Given the description of an element on the screen output the (x, y) to click on. 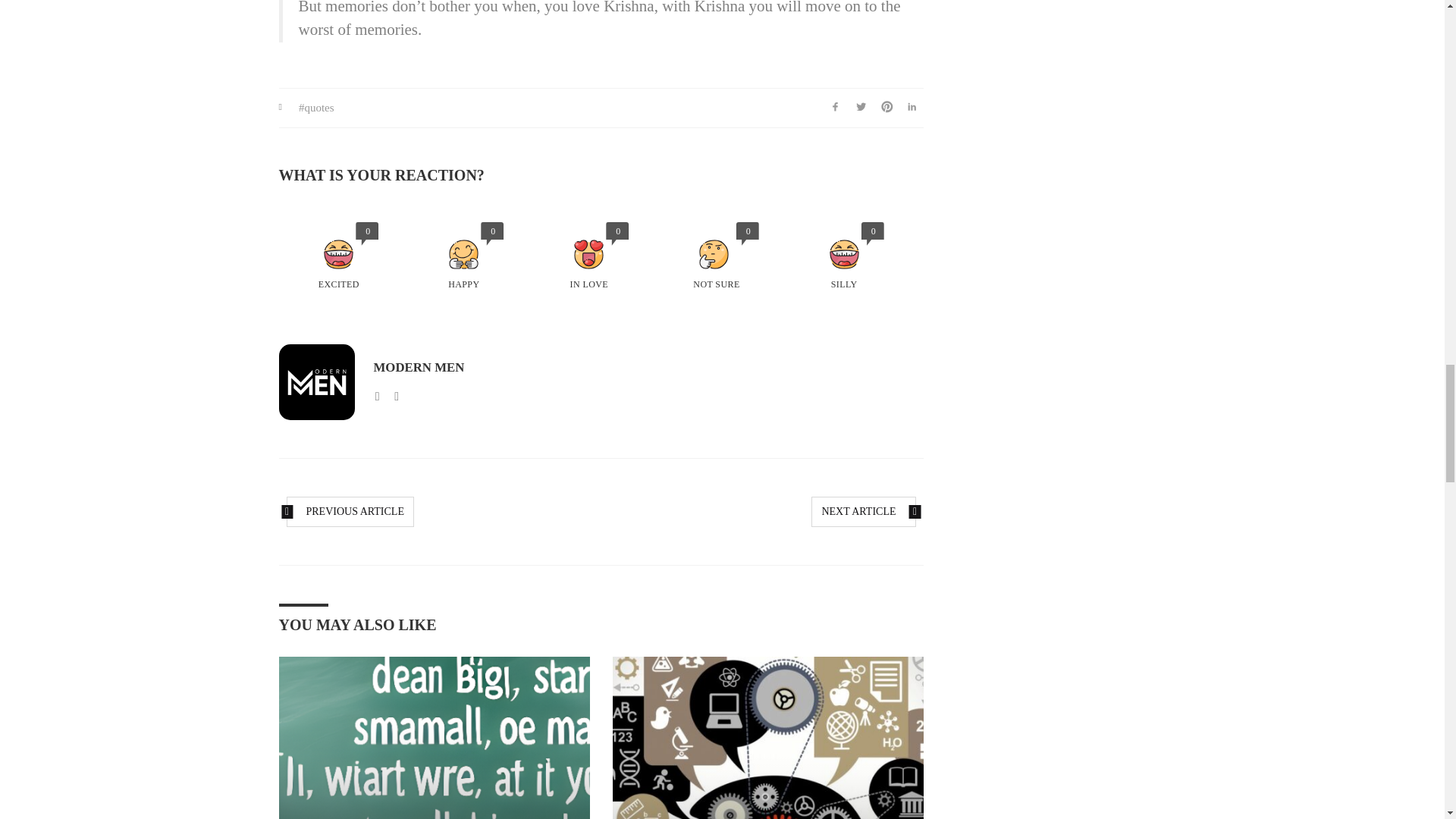
Share on Twitter (861, 107)
Posts by Modern Men (418, 367)
MODERN MEN (418, 367)
NEXT ARTICLE (862, 511)
Facebook (396, 395)
Share on Linkedin (912, 107)
Share on Facebook (836, 107)
Website (377, 395)
quotes (316, 107)
Share on Pinterest (887, 107)
PREVIOUS ARTICLE (349, 511)
